Given the description of an element on the screen output the (x, y) to click on. 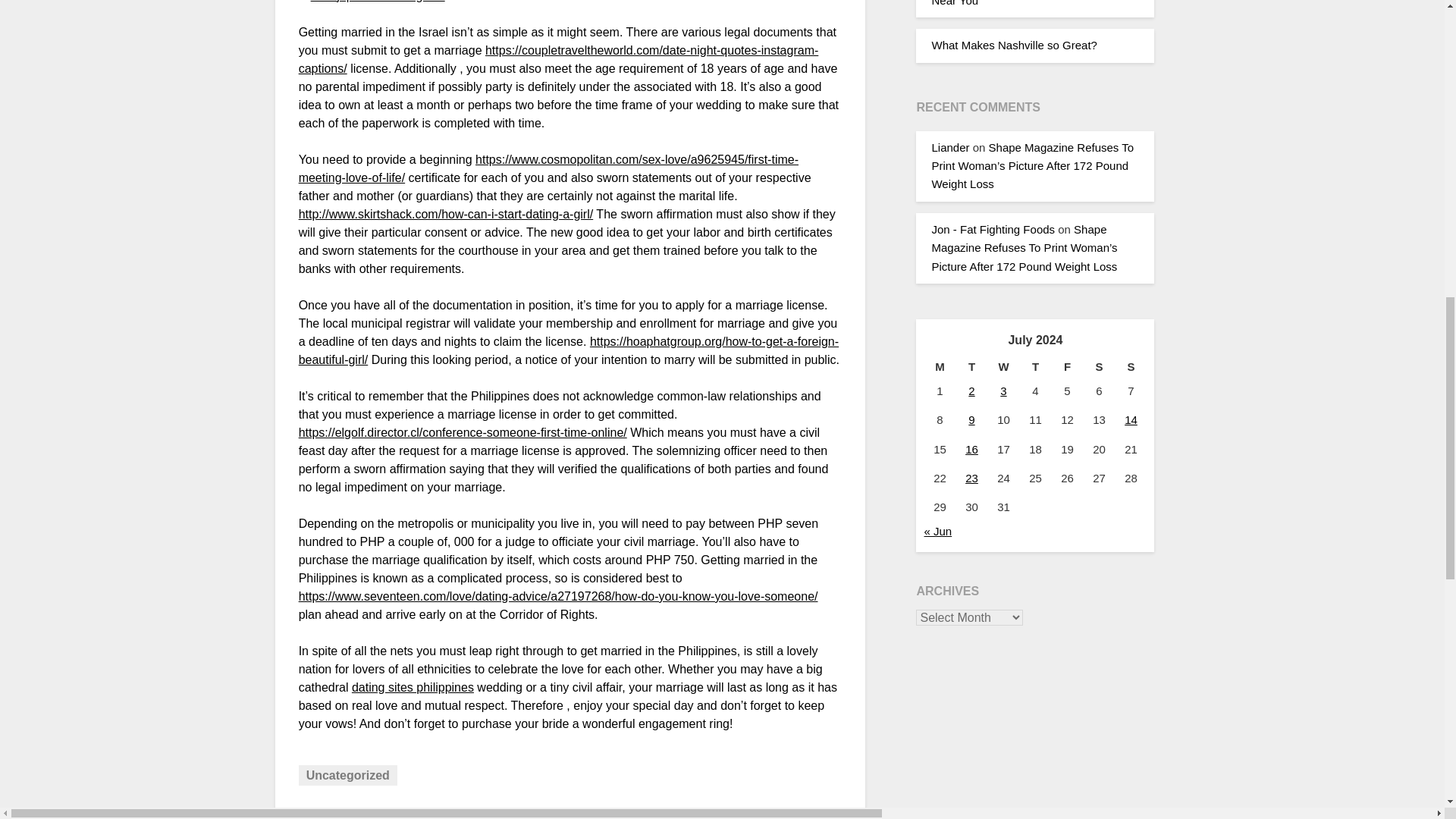
Friday (1067, 366)
dating sites philippines (413, 686)
Thursday (1035, 366)
Jon - Fat Fighting Foods (992, 228)
Saturday (1099, 366)
Liander (950, 146)
Uncategorized (347, 774)
Tuesday (971, 366)
14 (1130, 419)
Sunday (1131, 366)
Tips for Finding the Best Restaurants Near You (1024, 3)
16 (971, 449)
23 (971, 477)
Monday (939, 366)
What Makes Nashville so Great? (1013, 44)
